Given the description of an element on the screen output the (x, y) to click on. 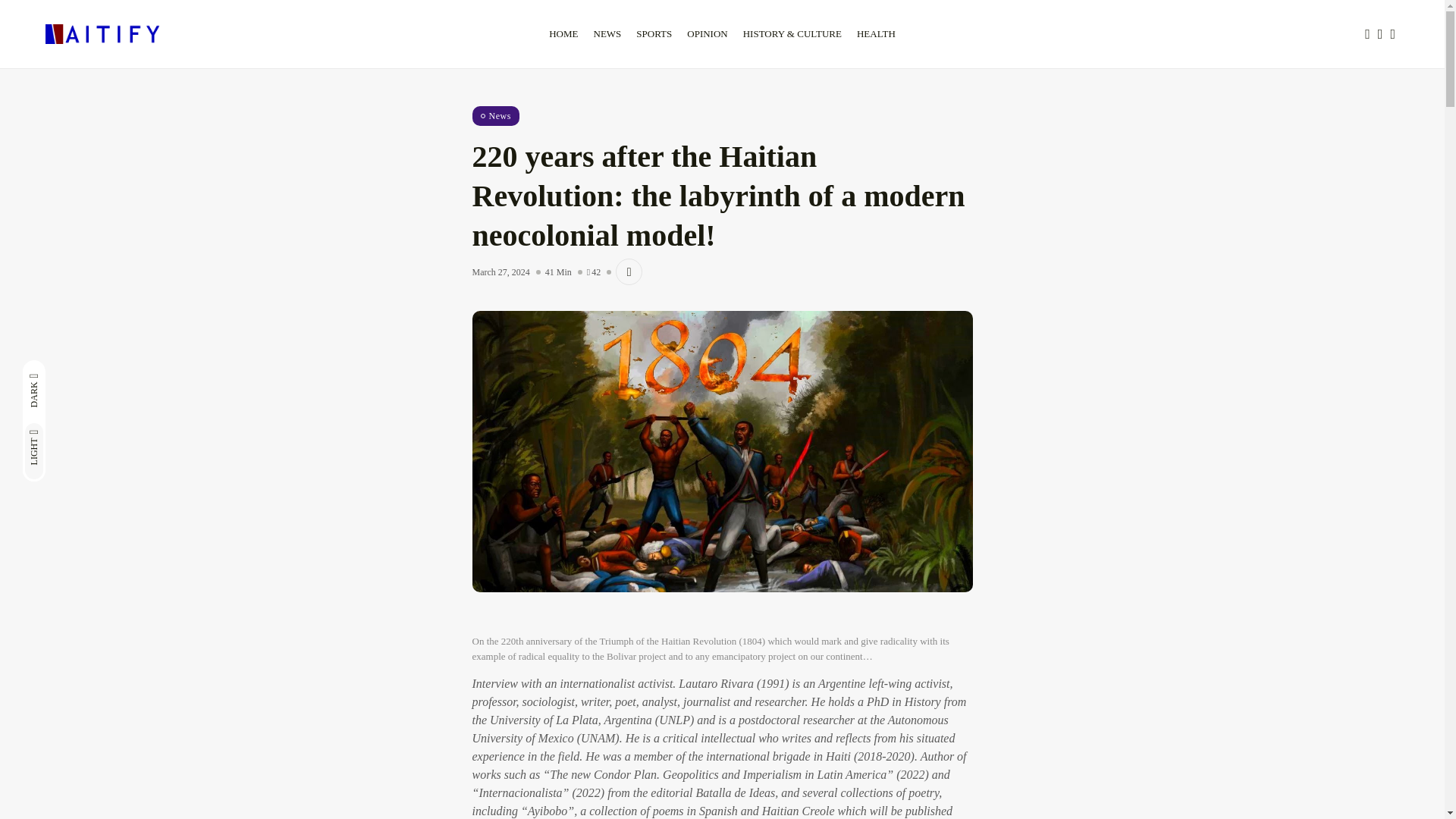
OPINION (707, 33)
SPORTS (653, 33)
HEALTH (875, 33)
HOME (563, 33)
NEWS (606, 33)
on (83, 371)
